Given the description of an element on the screen output the (x, y) to click on. 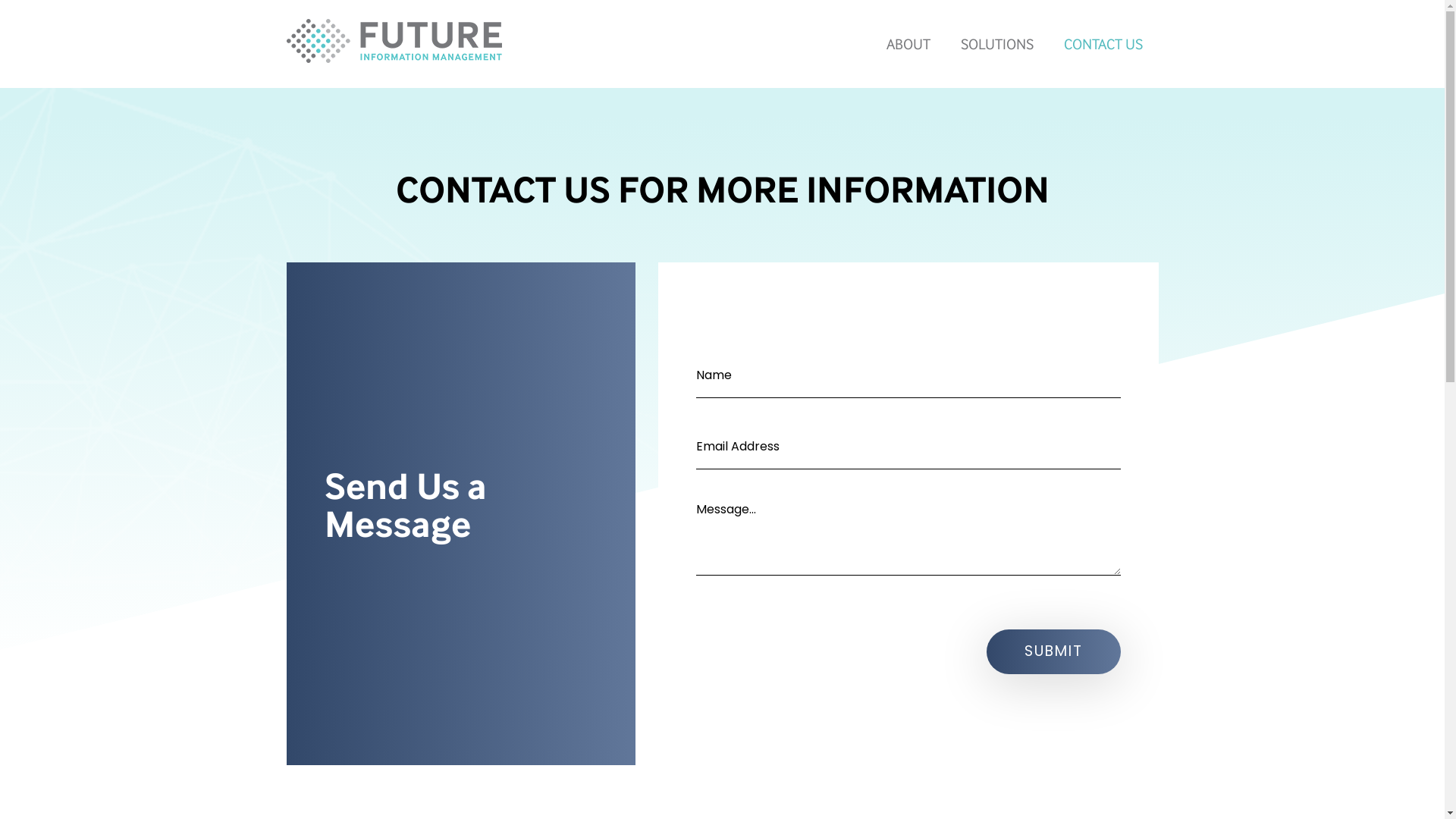
SUBMIT Element type: text (1052, 651)
SOLUTIONS Element type: text (996, 43)
CONTACT US Element type: text (1102, 43)
ABOUT Element type: text (908, 43)
